Given the description of an element on the screen output the (x, y) to click on. 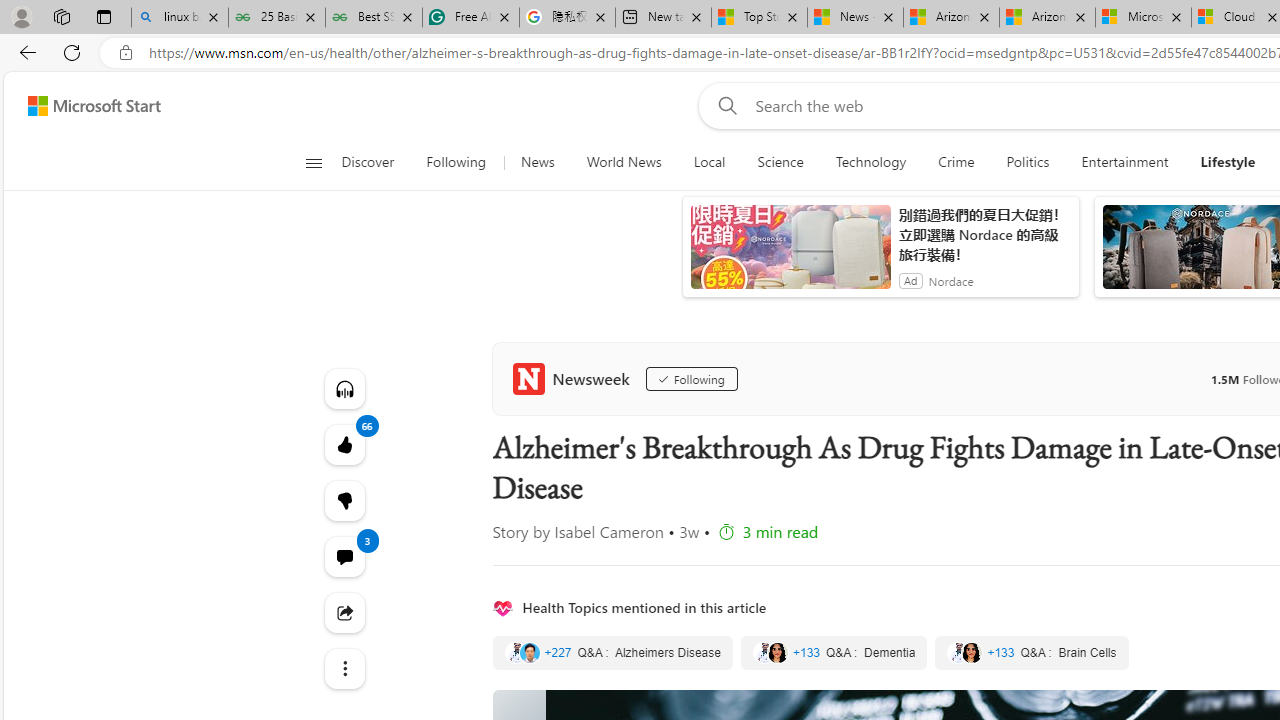
Best SSL Certificates Provider in India - GeeksforGeeks (374, 17)
Class: quote-thumbnail (972, 652)
Share this story (343, 612)
Free AI Writing Assistance for Students | Grammarly (470, 17)
